Given the description of an element on the screen output the (x, y) to click on. 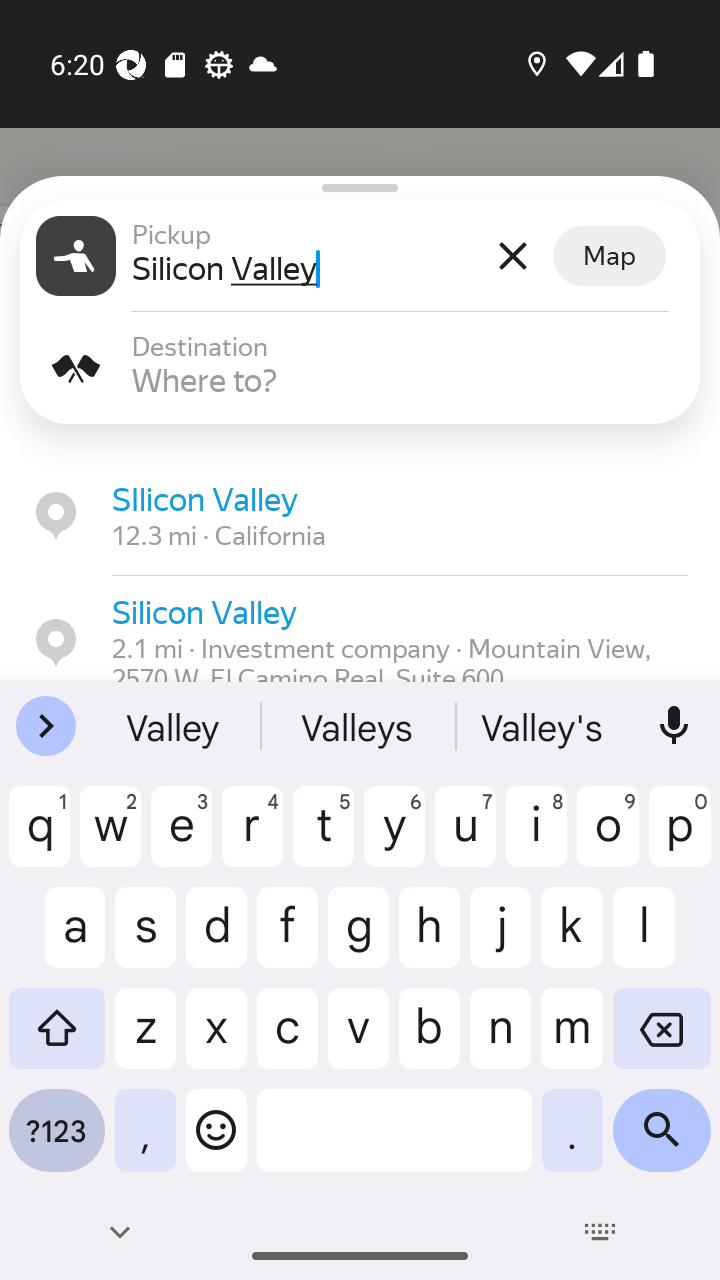
Pickup Pickup Silicon Valley Clear text box Map (359, 255)
Map (609, 256)
Clear text box (512, 255)
Silicon Valley (307, 268)
Destination Destination Where to? (359, 367)
Where to? (407, 380)
